Given the description of an element on the screen output the (x, y) to click on. 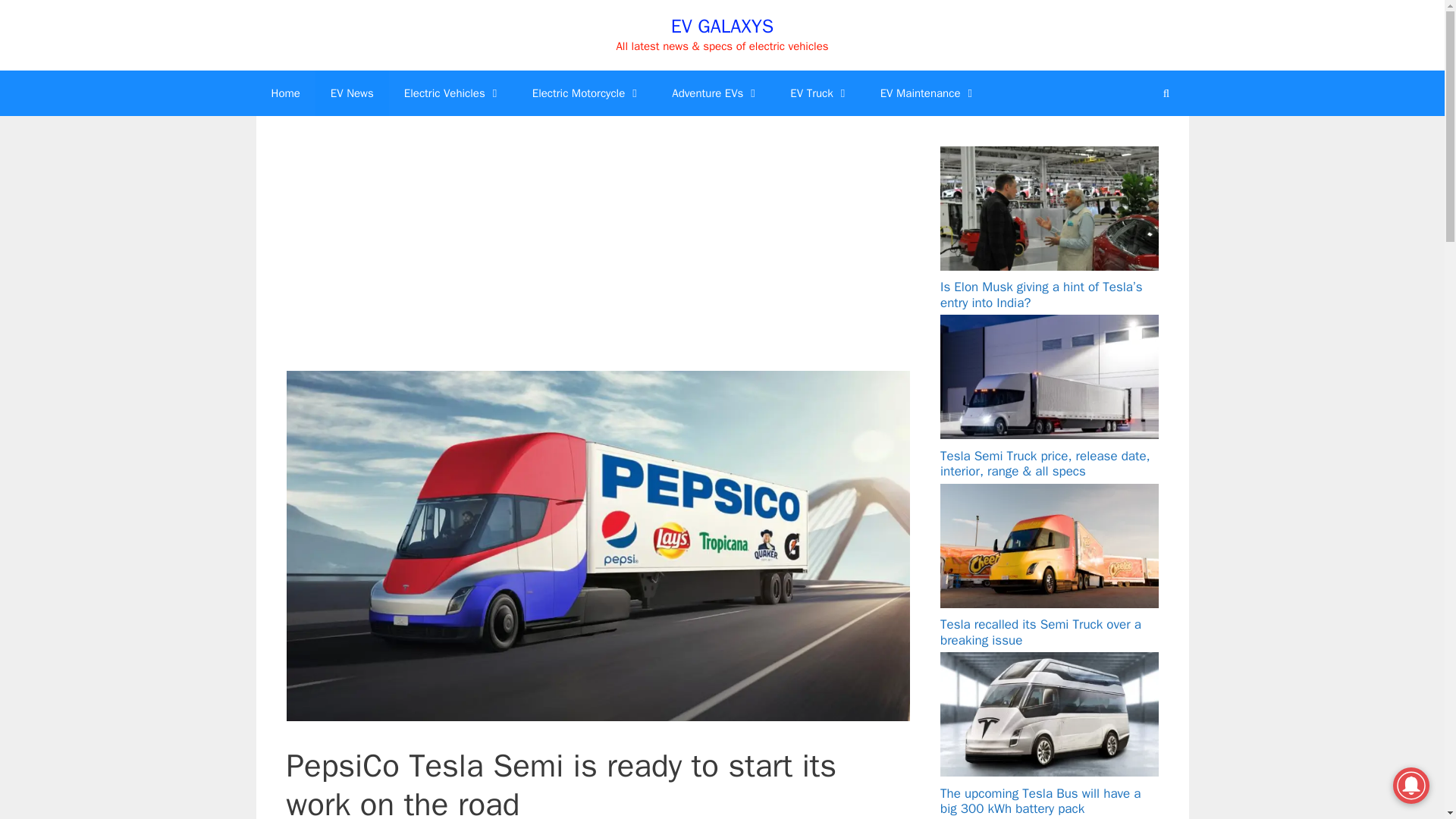
Electric Motorcycle (587, 92)
EV Maintenance (928, 92)
EV Truck (819, 92)
Home (285, 92)
Adventure EVs (715, 92)
Advertisement (598, 257)
Electric Vehicles (452, 92)
EV GALAXYS (722, 25)
EV News (351, 92)
